Given the description of an element on the screen output the (x, y) to click on. 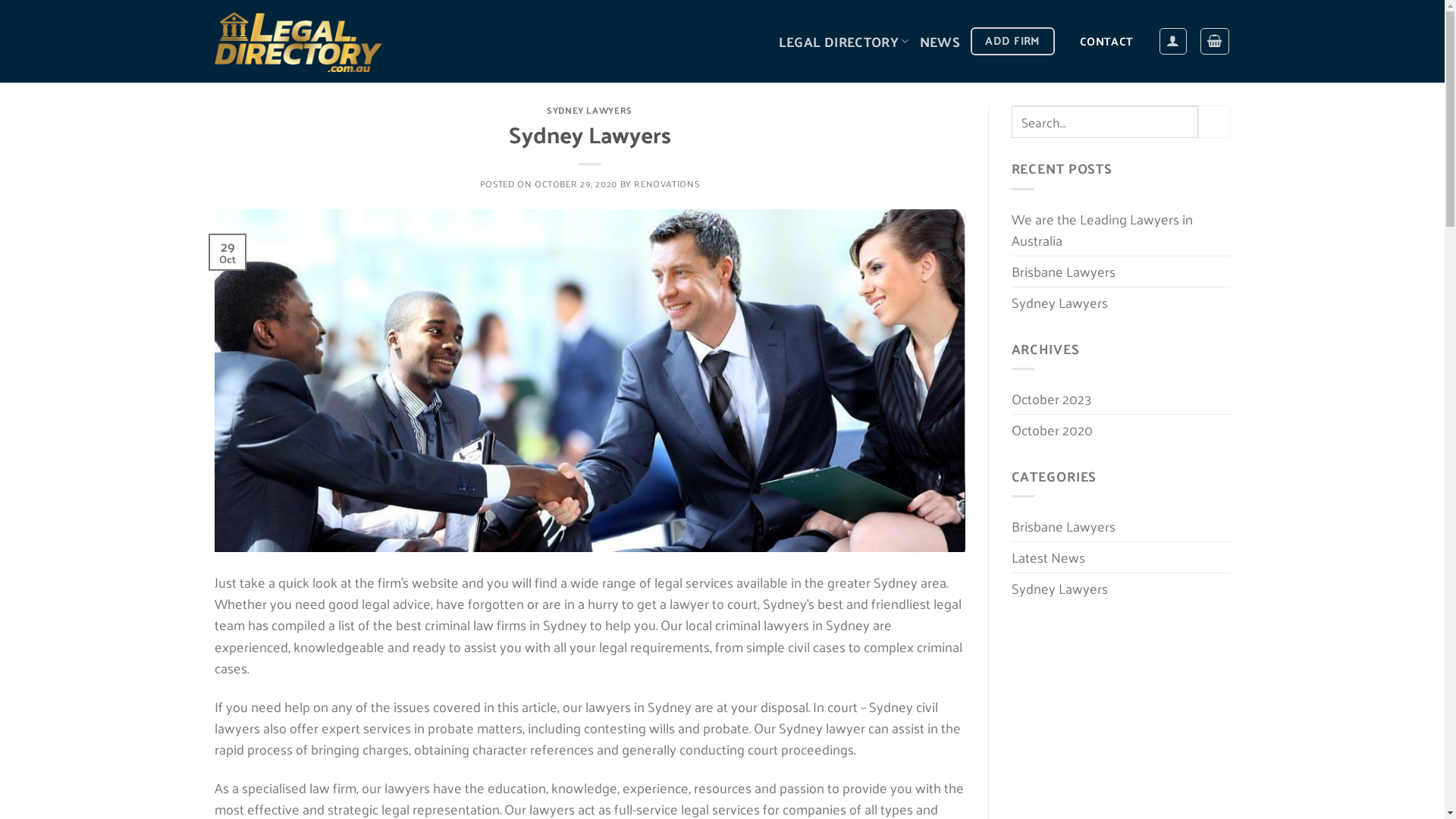
Cart Element type: hover (1213, 41)
OCTOBER 29, 2020 Element type: text (575, 183)
Sydney Lawyers Element type: text (1059, 302)
We are the Leading Lawyers in Australia Element type: text (1120, 229)
ADD FIRM Element type: text (1012, 40)
NEWS Element type: text (939, 40)
CONTACT Element type: text (1106, 41)
Brisbane Lawyers Element type: text (1063, 526)
Brisbane Lawyers Element type: text (1063, 271)
October 2023 Element type: text (1051, 398)
Latest News Element type: text (1048, 557)
SYDNEY LAWYERS Element type: text (589, 109)
October 2020 Element type: text (1051, 429)
RENOVATIONS Element type: text (666, 183)
Sydney Lawyers Element type: text (1059, 588)
LEGAL DIRECTORY Element type: text (843, 41)
Legal Directory Element type: hover (297, 41)
